Given the description of an element on the screen output the (x, y) to click on. 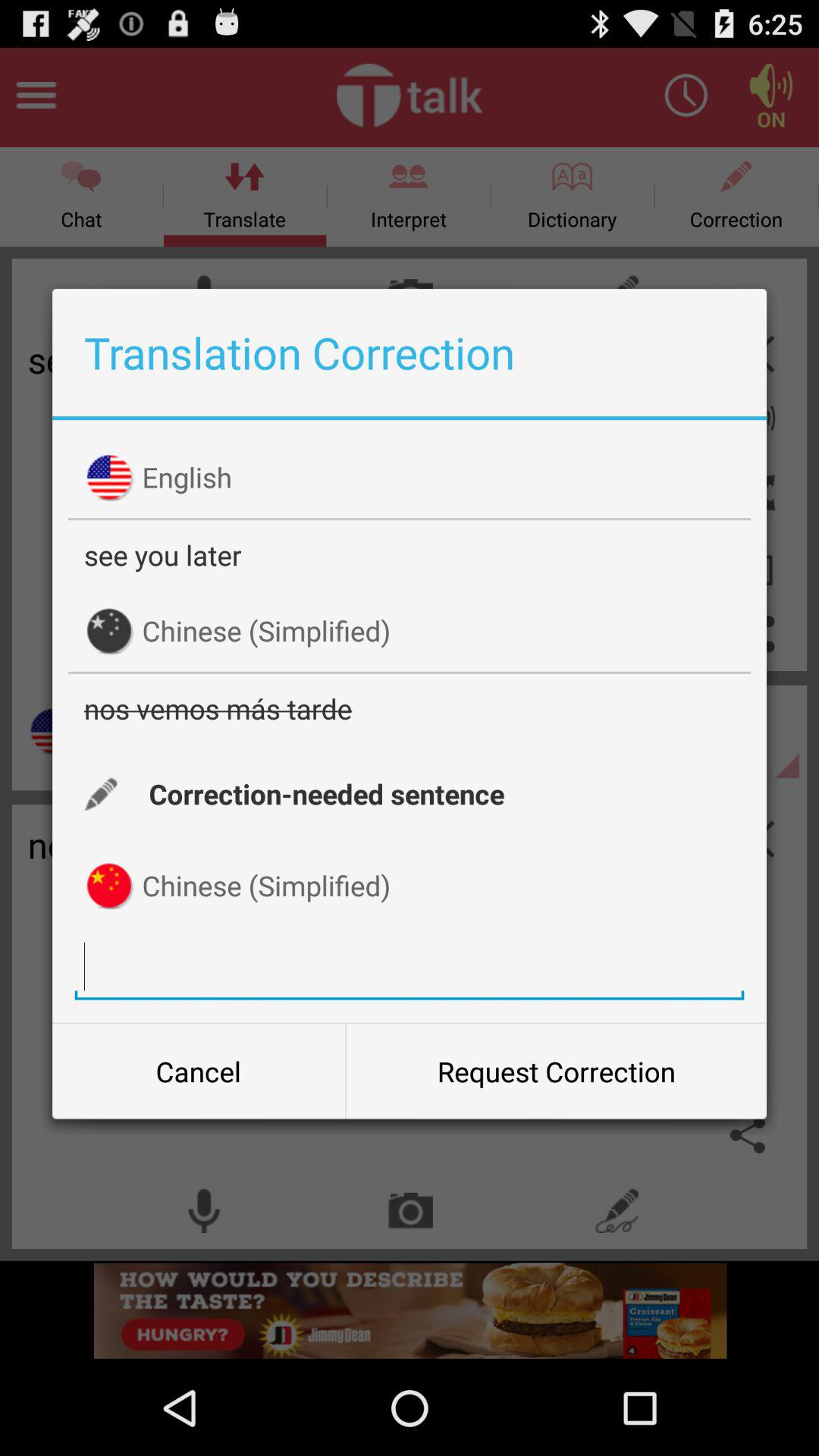
press the item at the bottom right corner (556, 1071)
